Given the description of an element on the screen output the (x, y) to click on. 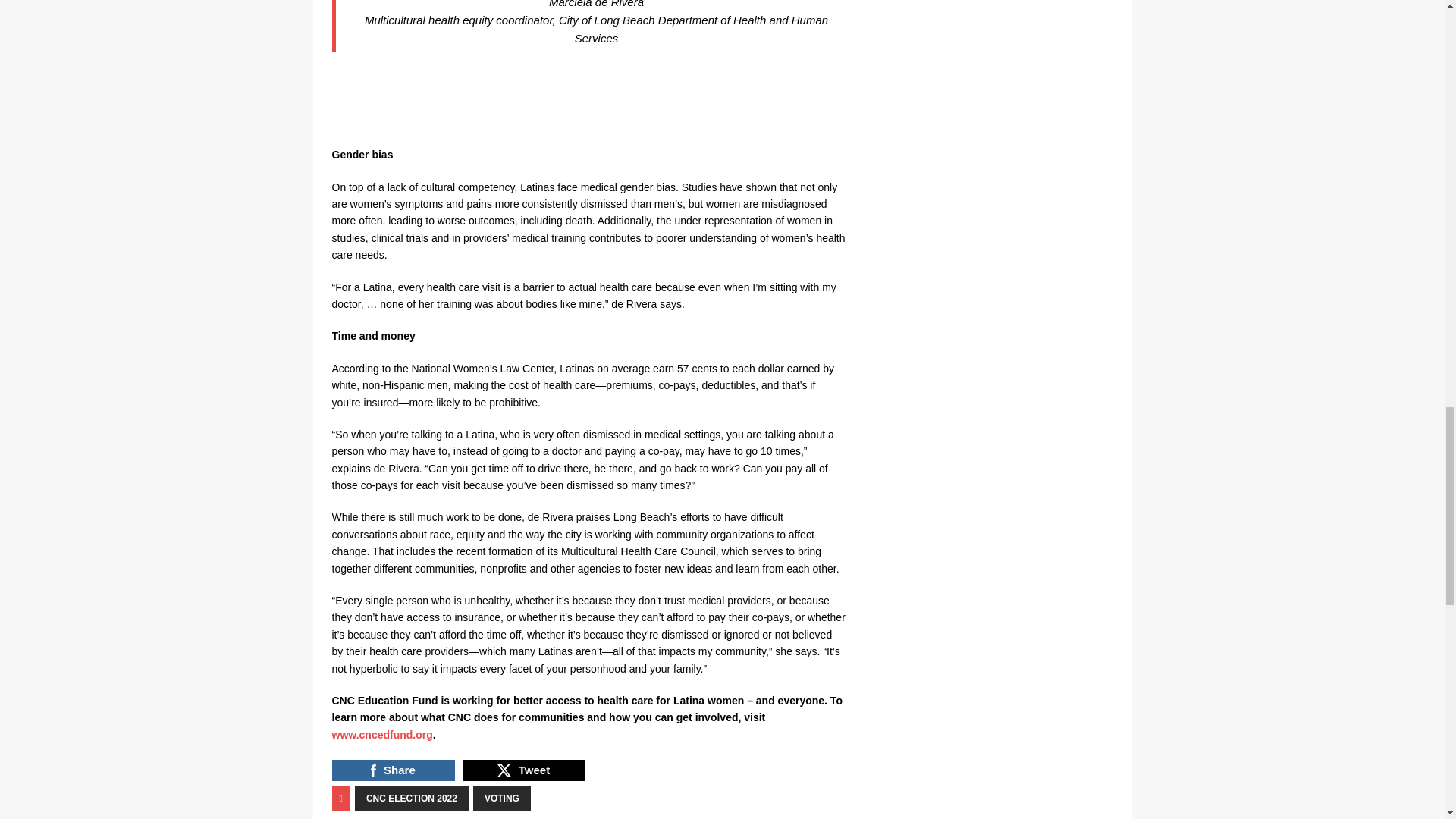
Share (392, 770)
VOTING (502, 798)
www.cncedfund.org (381, 734)
CNC ELECTION 2022 (411, 798)
Tweet (524, 770)
